Given the description of an element on the screen output the (x, y) to click on. 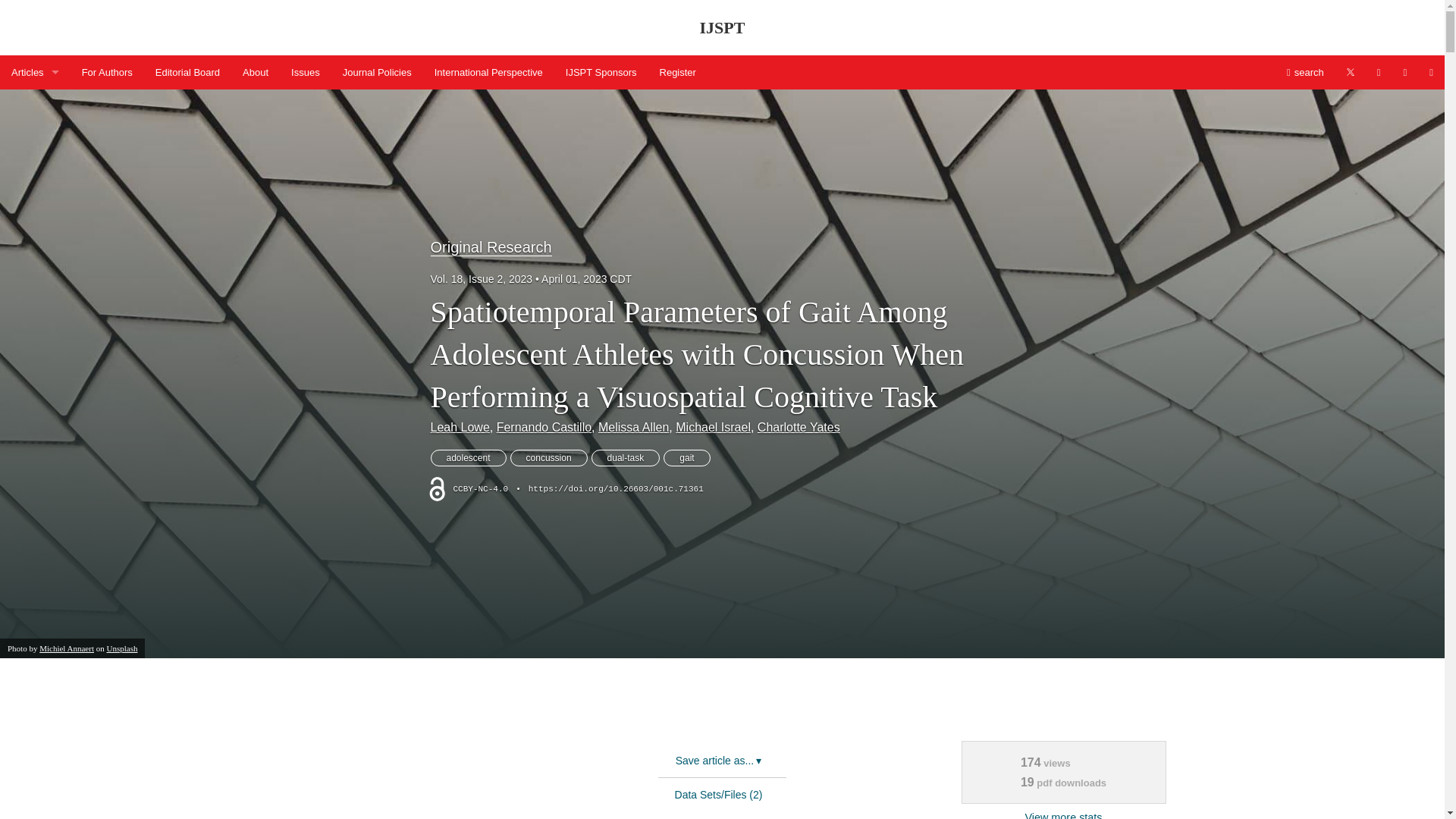
IJSPT (721, 27)
Register (677, 72)
All (29, 686)
Editorial Board (187, 72)
Copyright Logo (435, 488)
Clinical Viewpoint (29, 243)
Original Research (29, 481)
Digital Health Corner by Genie Health (29, 277)
MSK Ultrasound Bites: Tips and Tricks (29, 447)
Articles (34, 72)
Umbrella Review (29, 652)
Research Symposium (29, 515)
About (255, 72)
IJSPT Sponsors (600, 72)
Issues (305, 72)
